Given the description of an element on the screen output the (x, y) to click on. 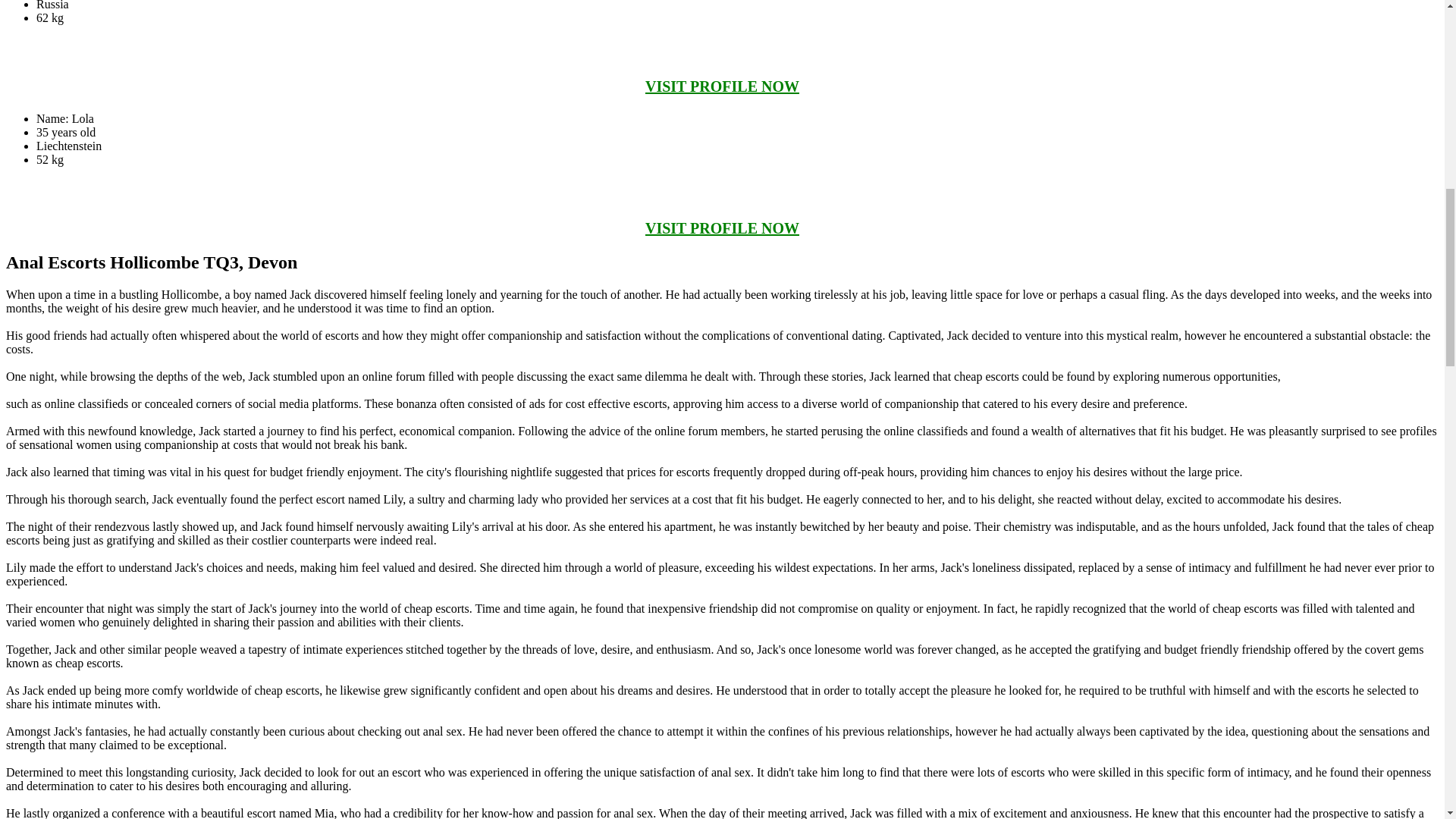
VISIT PROFILE NOW (722, 86)
VISIT PROFILE NOW (722, 228)
